Given the description of an element on the screen output the (x, y) to click on. 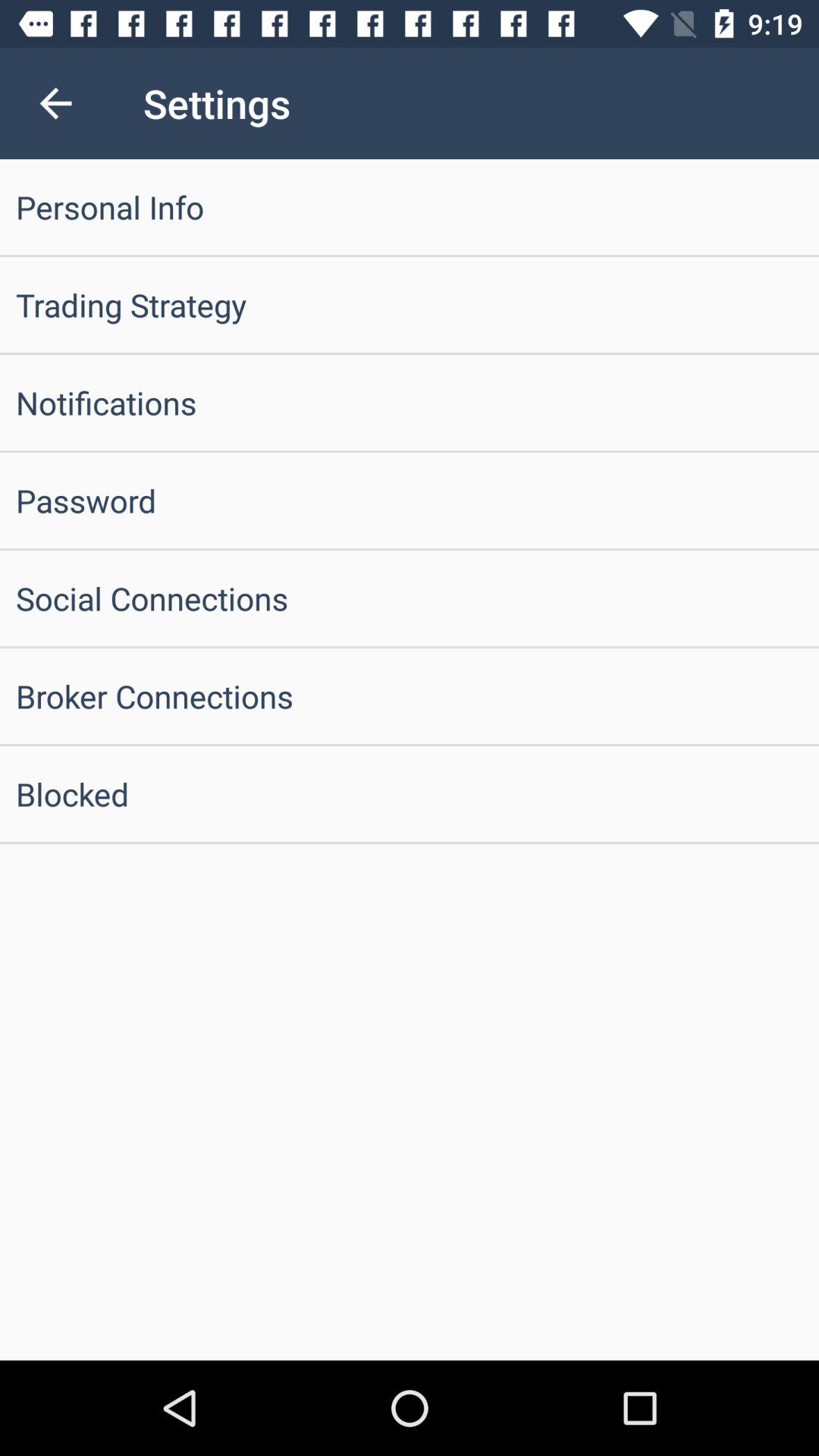
tap the item above password icon (409, 402)
